Given the description of an element on the screen output the (x, y) to click on. 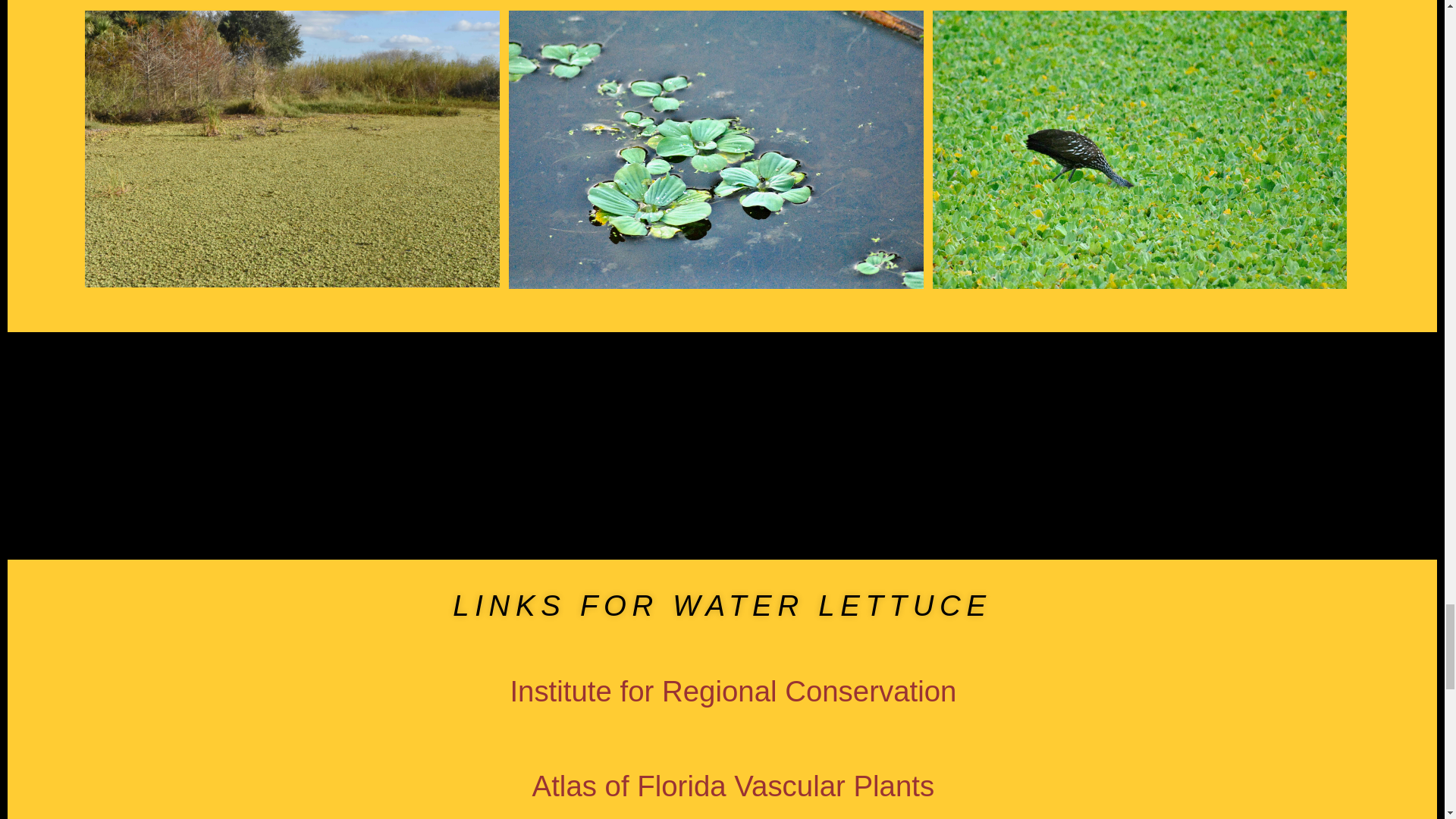
Institute for Regional Conservation (732, 690)
Atlas of Florida Vascular Plants (733, 785)
